Given the description of an element on the screen output the (x, y) to click on. 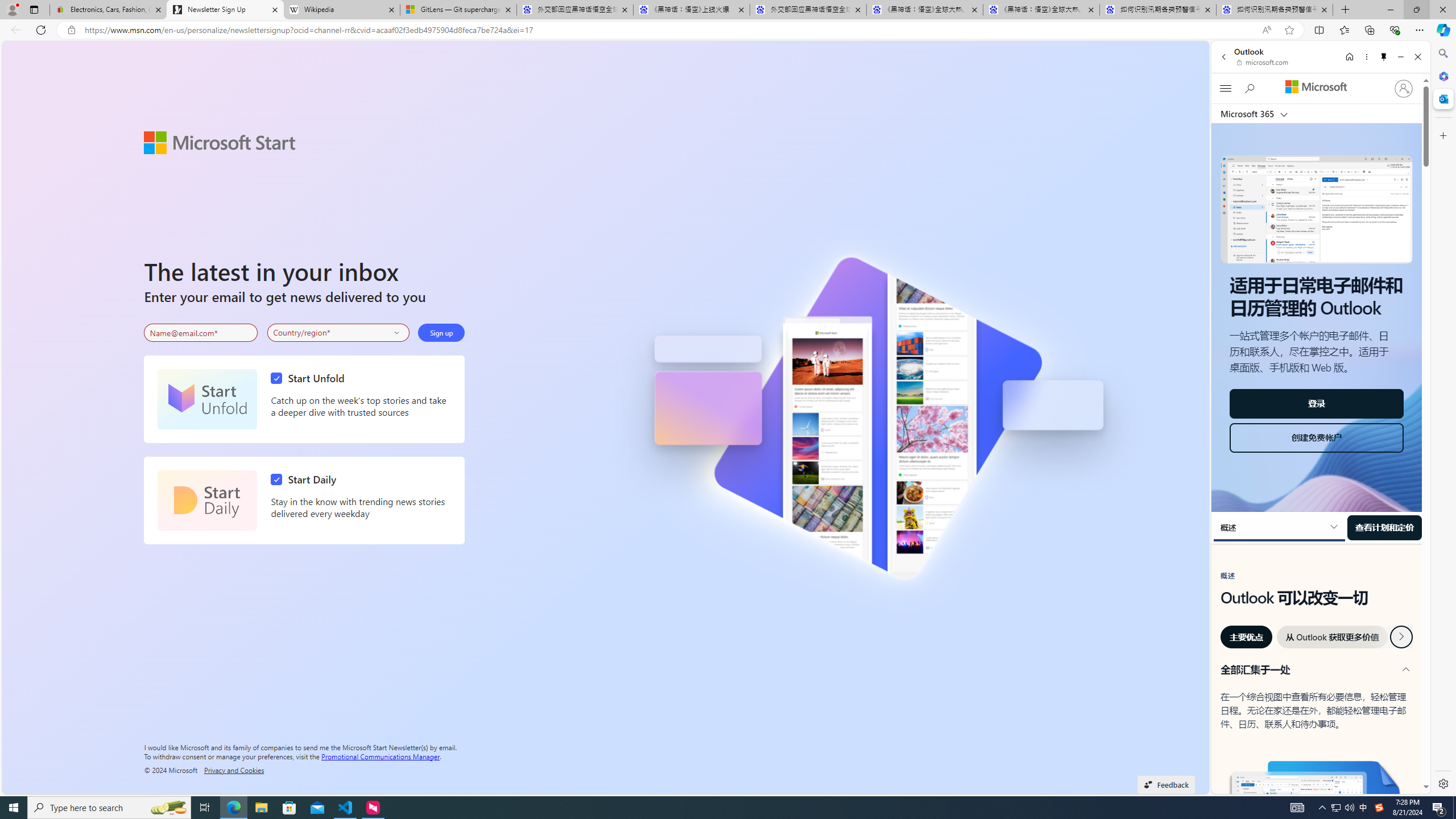
Newsletter Sign Up (224, 9)
Start Daily (207, 500)
microsoft.com (1263, 61)
Sign up (441, 332)
Select your country (338, 332)
